Given the description of an element on the screen output the (x, y) to click on. 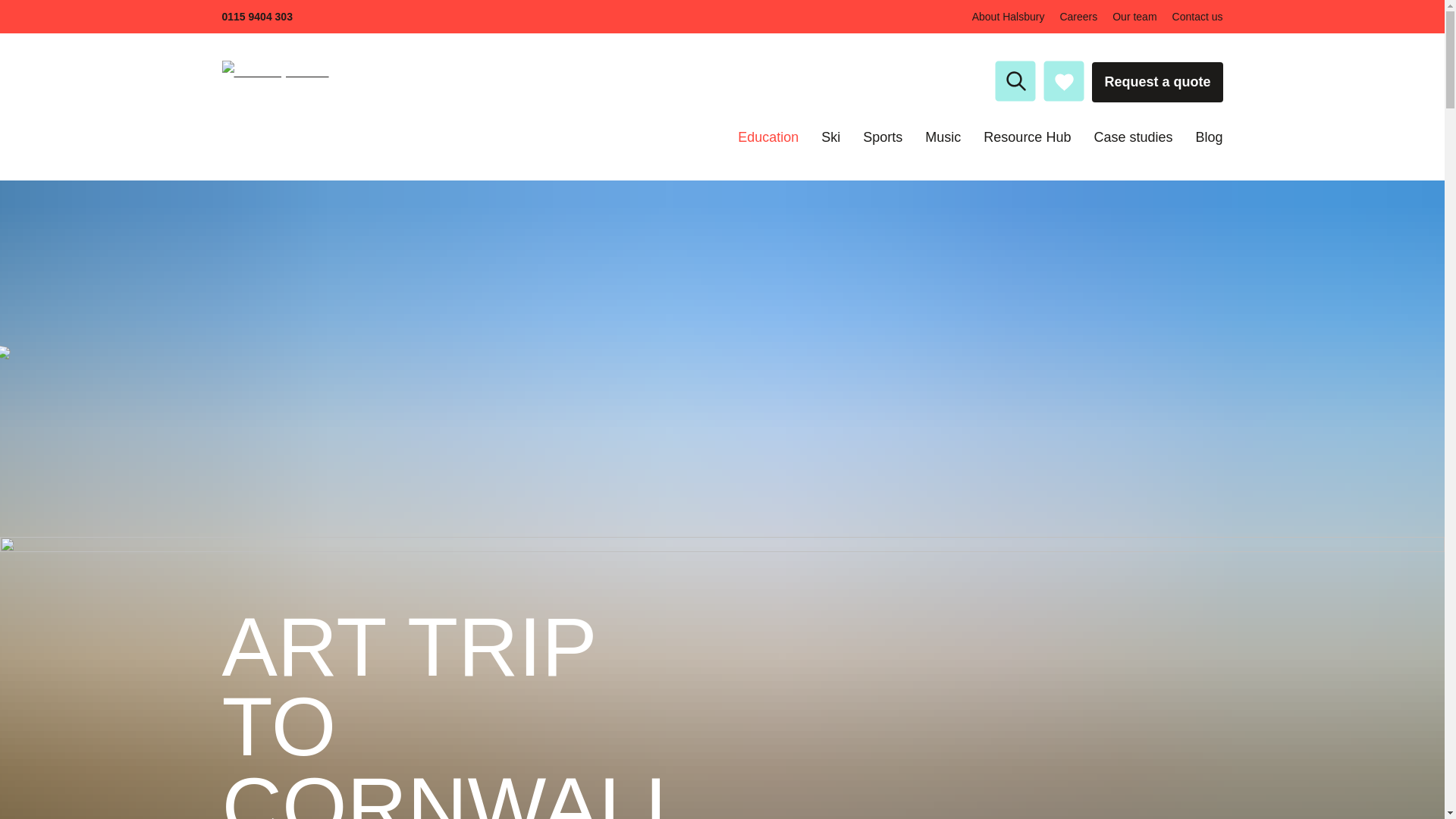
Ski (830, 136)
Blog (1209, 136)
Careers (1078, 16)
Education (767, 136)
0115 9404 303 (256, 16)
Our team (1134, 16)
Case studies (1132, 136)
About Halsbury (1008, 16)
Request a quote (1157, 82)
Music (942, 136)
Sports (882, 136)
Resource Hub (1027, 136)
Contact us (1197, 16)
